Given the description of an element on the screen output the (x, y) to click on. 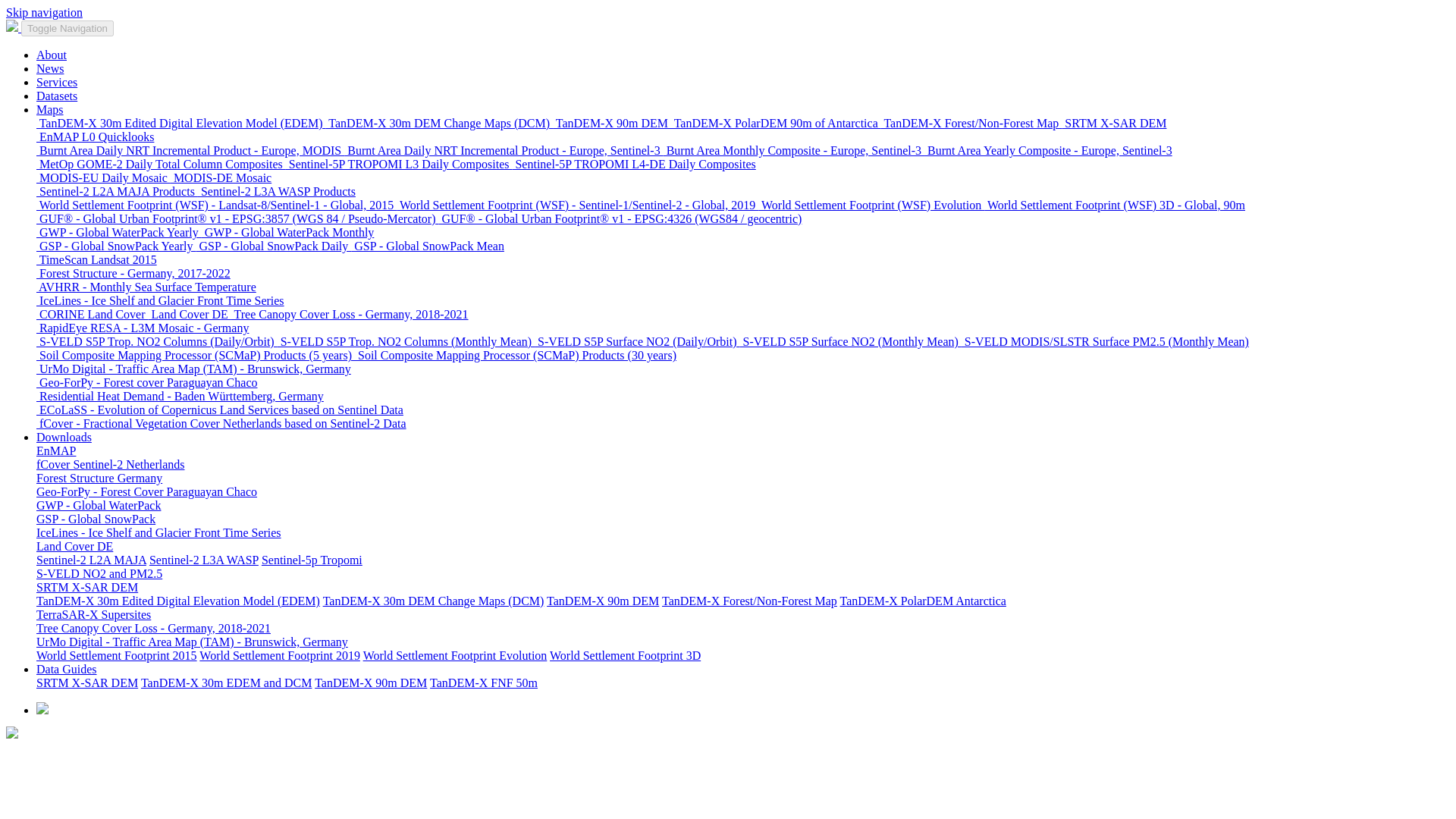
 MetOp GOME-2 Daily Total Column Composites (160, 164)
Services (56, 82)
Maps (50, 109)
 MODIS-DE Mosaic (220, 177)
 TanDEM-X 90m DEM (612, 123)
 TimeScan Landsat 2015 (96, 259)
 Sentinel-5P TROPOMI L3 Daily Composites (398, 164)
 GSP - Global SnowPack Yearly (116, 245)
 TanDEM-X PolarDEM 90m of Antarctica (775, 123)
News (50, 68)
Toggle Navigation (67, 28)
 GWP - Global WaterPack Yearly (119, 232)
 Sentinel-2 L2A MAJA Products (117, 191)
 Burnt Area Monthly Composite - Europe, Sentinel-3 (793, 150)
 Burnt Area Daily NRT Incremental Product - Europe, MODIS (189, 150)
